Given the description of an element on the screen output the (x, y) to click on. 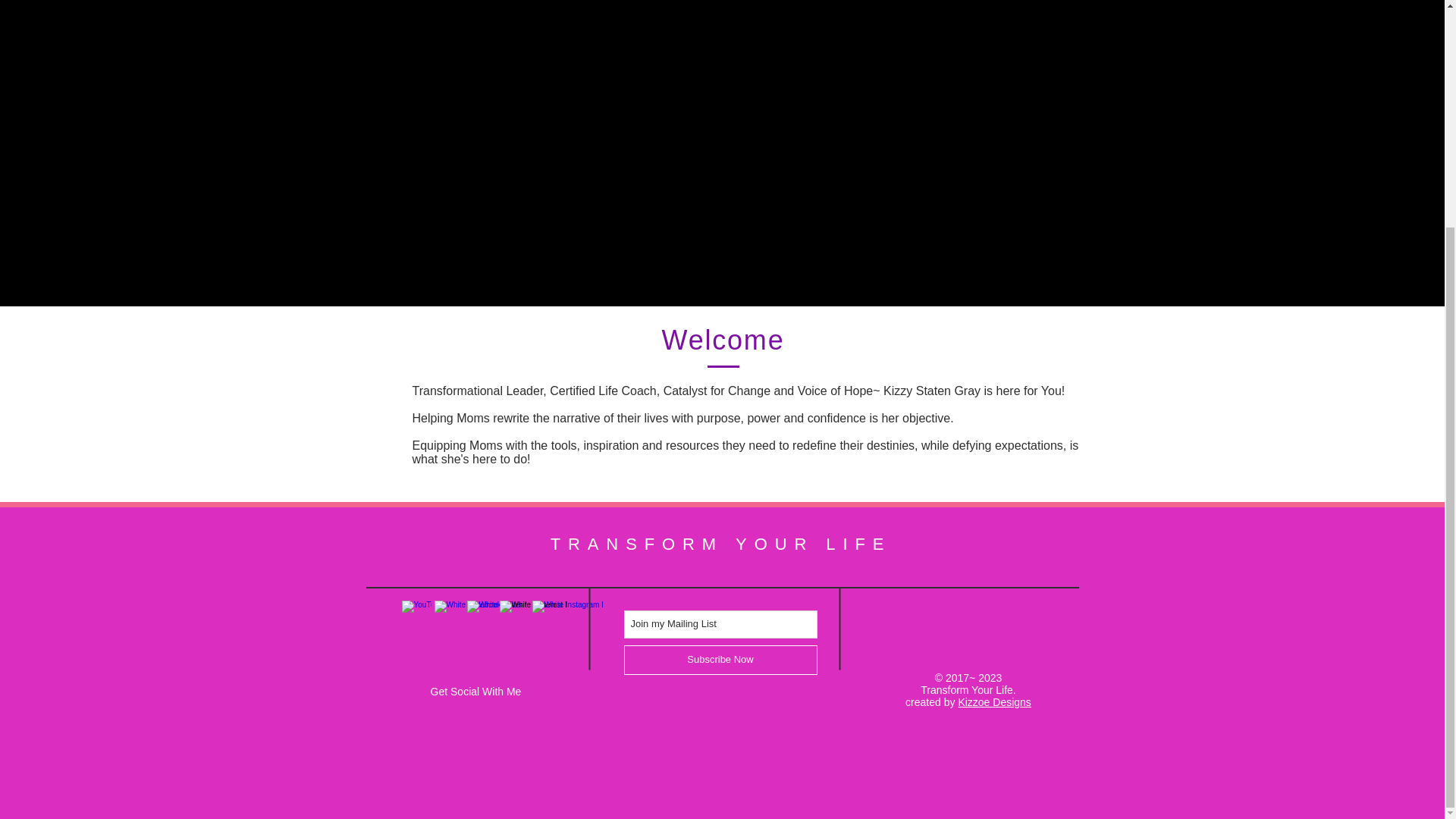
Subscribe Now (719, 659)
Kizzoe Designs (994, 702)
TRANSFORM YOUR LIFE (720, 543)
